Given the description of an element on the screen output the (x, y) to click on. 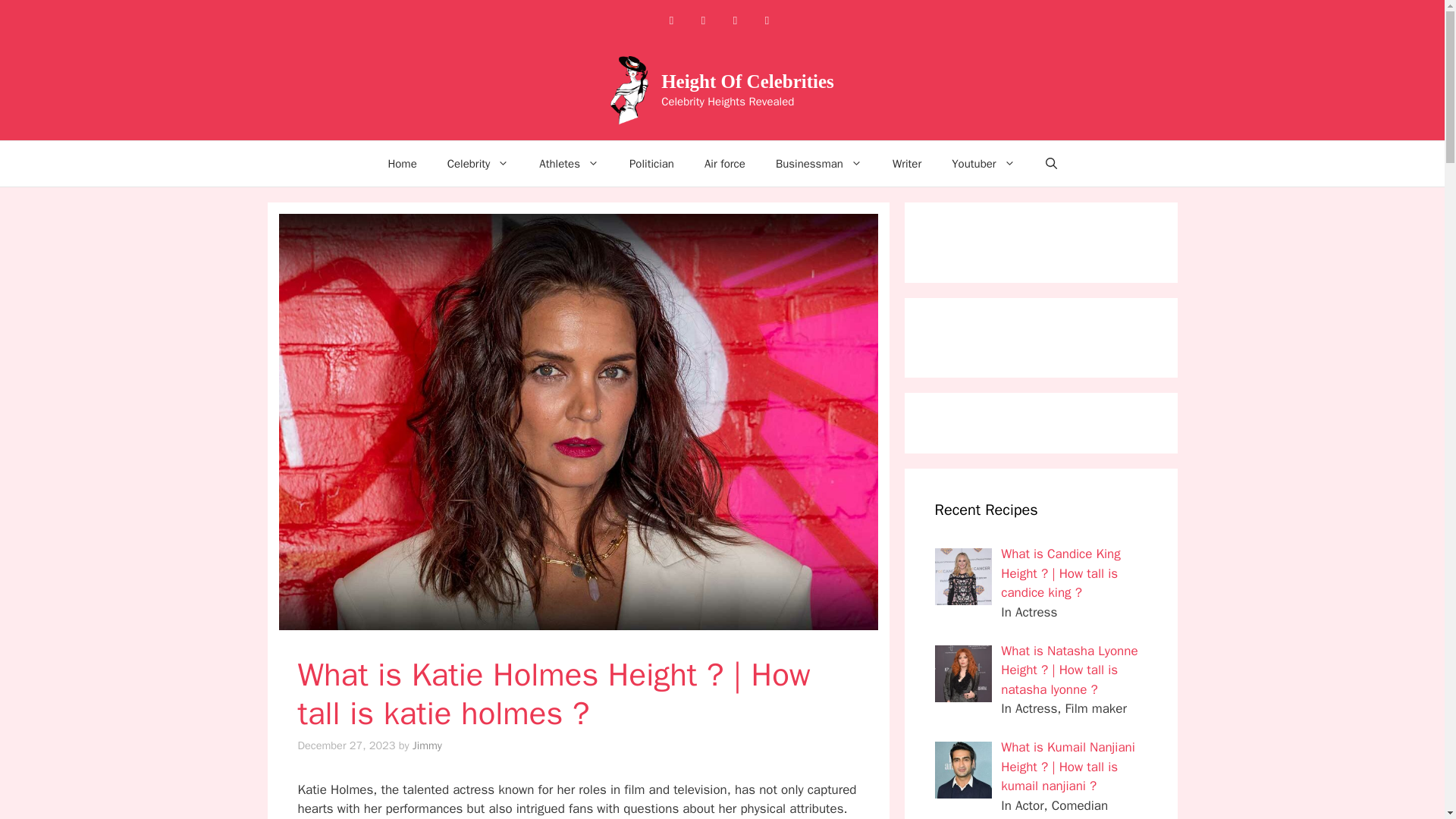
Facebook (671, 20)
Celebrity (478, 163)
Air force (724, 163)
Instagram (703, 20)
Home (401, 163)
Twitter (766, 20)
Height Of Celebrities (747, 81)
Pinterest (735, 20)
Athletes (569, 163)
Youtuber (982, 163)
Businessman (818, 163)
Writer (906, 163)
View all posts by Jimmy (427, 745)
Politician (651, 163)
